Given the description of an element on the screen output the (x, y) to click on. 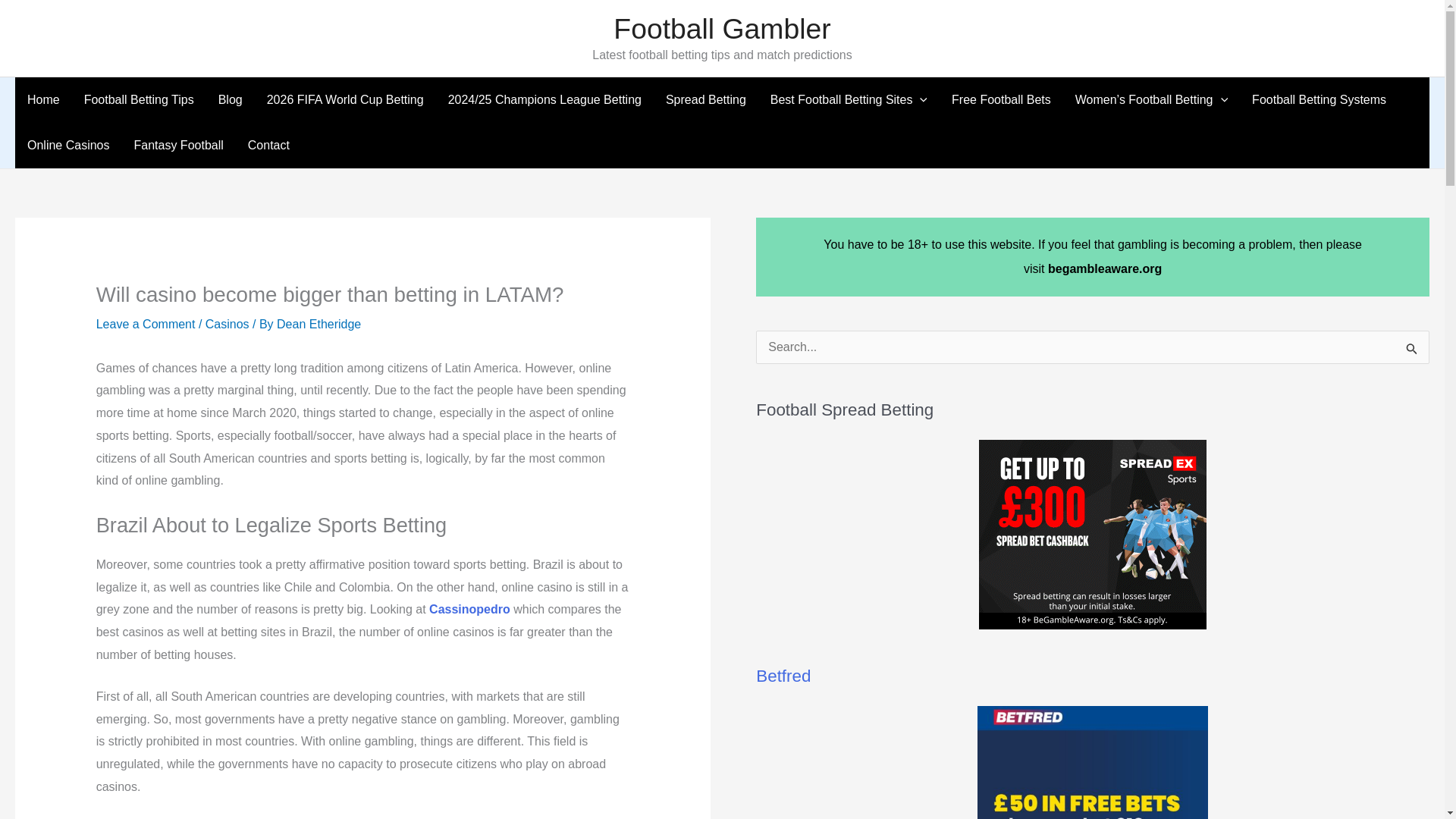
Football Gambler (720, 29)
Contact (268, 145)
Blog (230, 99)
View all posts by Dean Etheridge (318, 323)
Fantasy Football (177, 145)
Free Football Bets (1000, 99)
Football Betting Tips (138, 99)
Online Casinos (68, 145)
Home (42, 99)
Football Betting Systems (1318, 99)
